Given the description of an element on the screen output the (x, y) to click on. 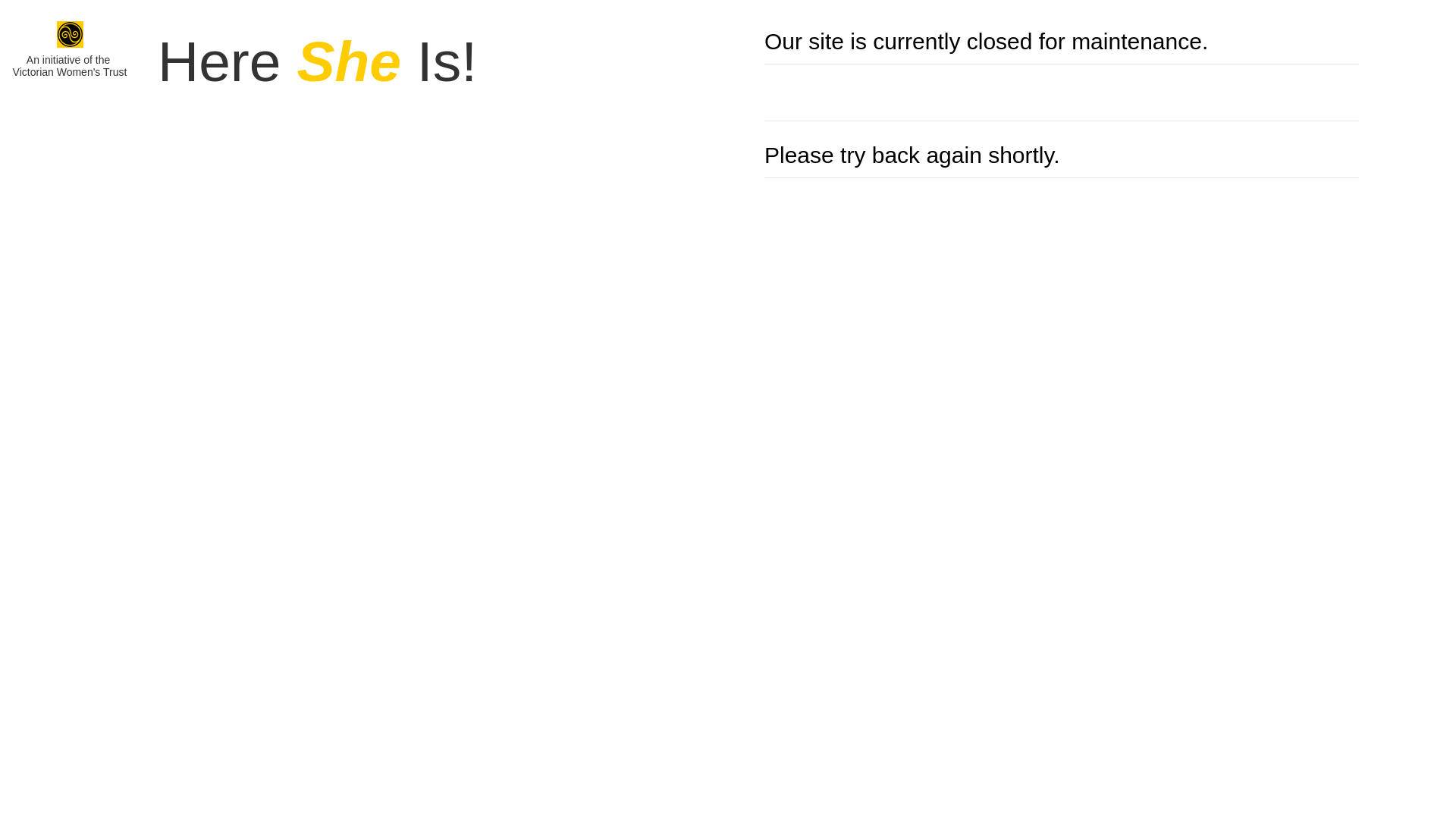
Here She Is! Element type: text (316, 47)
